Given the description of an element on the screen output the (x, y) to click on. 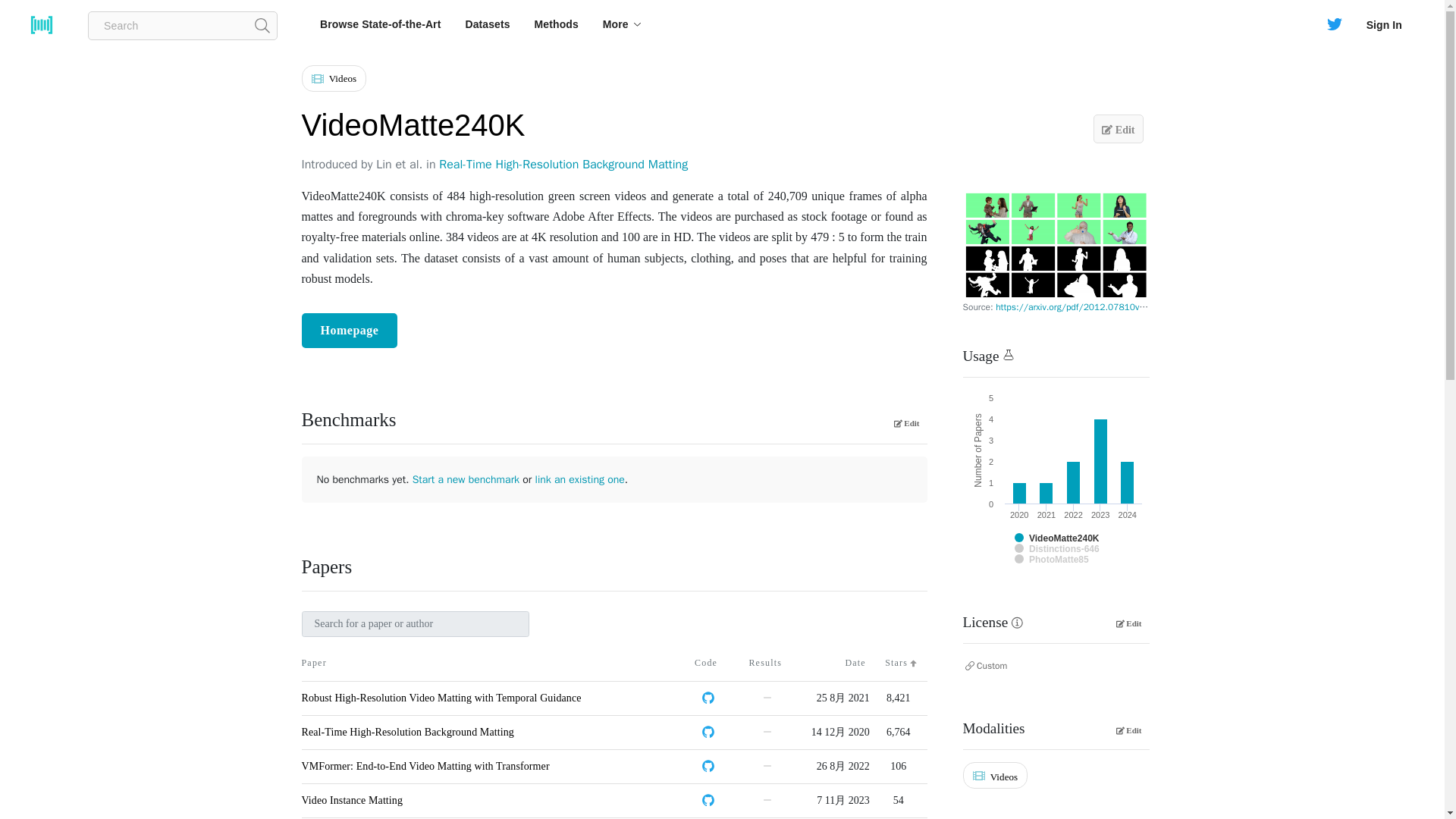
Sign In (1383, 24)
More (621, 24)
Videos (336, 81)
Datasets (486, 24)
Methods (556, 24)
Browse State-of-the-Art (379, 24)
